Given the description of an element on the screen output the (x, y) to click on. 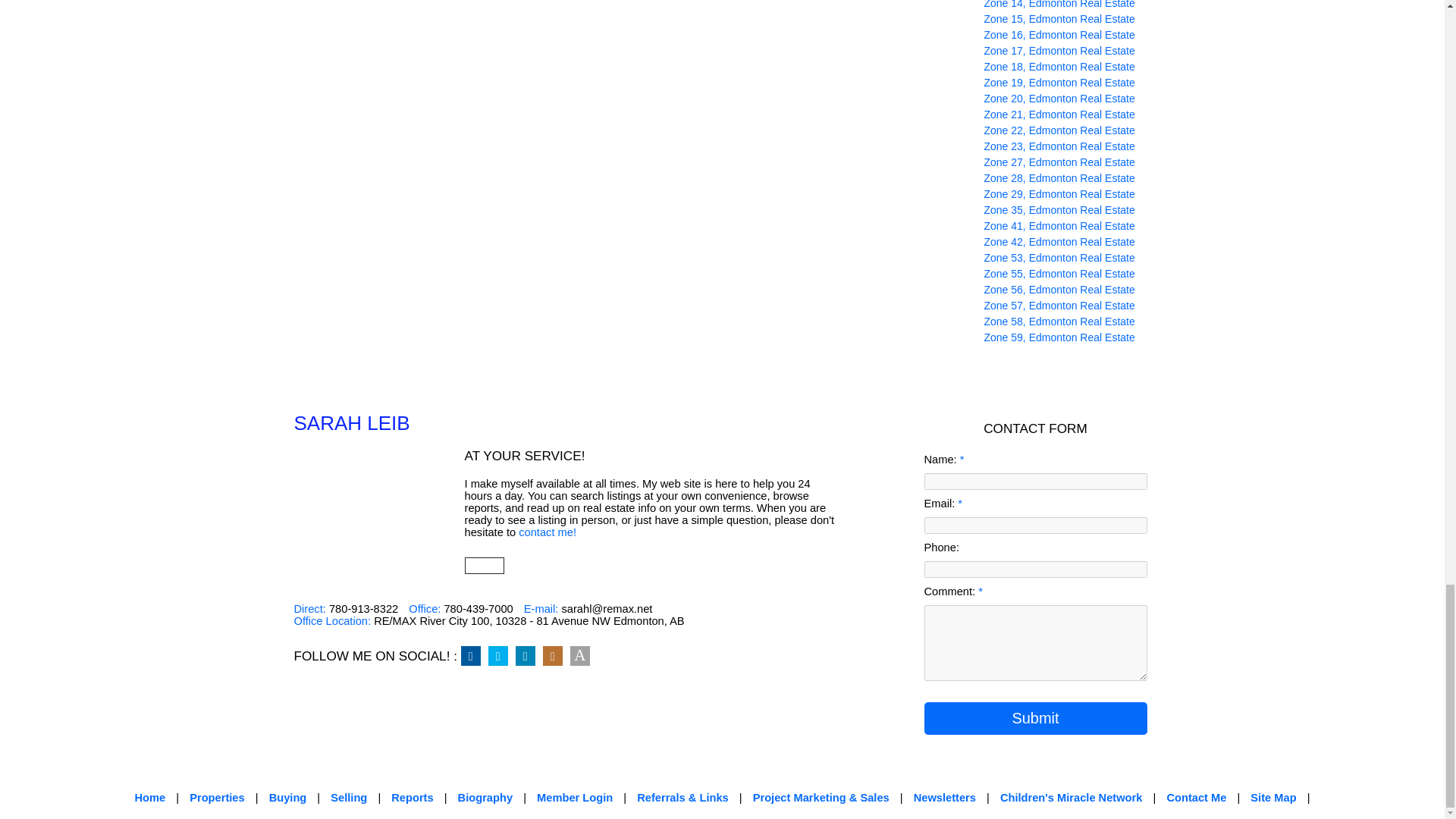
Member Login (574, 797)
Contact Me (1195, 797)
Home (149, 797)
Children's Miracle Network (1071, 797)
Biography (485, 797)
Site Map (1272, 797)
Selling (348, 797)
Newsletters (944, 797)
Reports (411, 797)
Buying (288, 797)
